Given the description of an element on the screen output the (x, y) to click on. 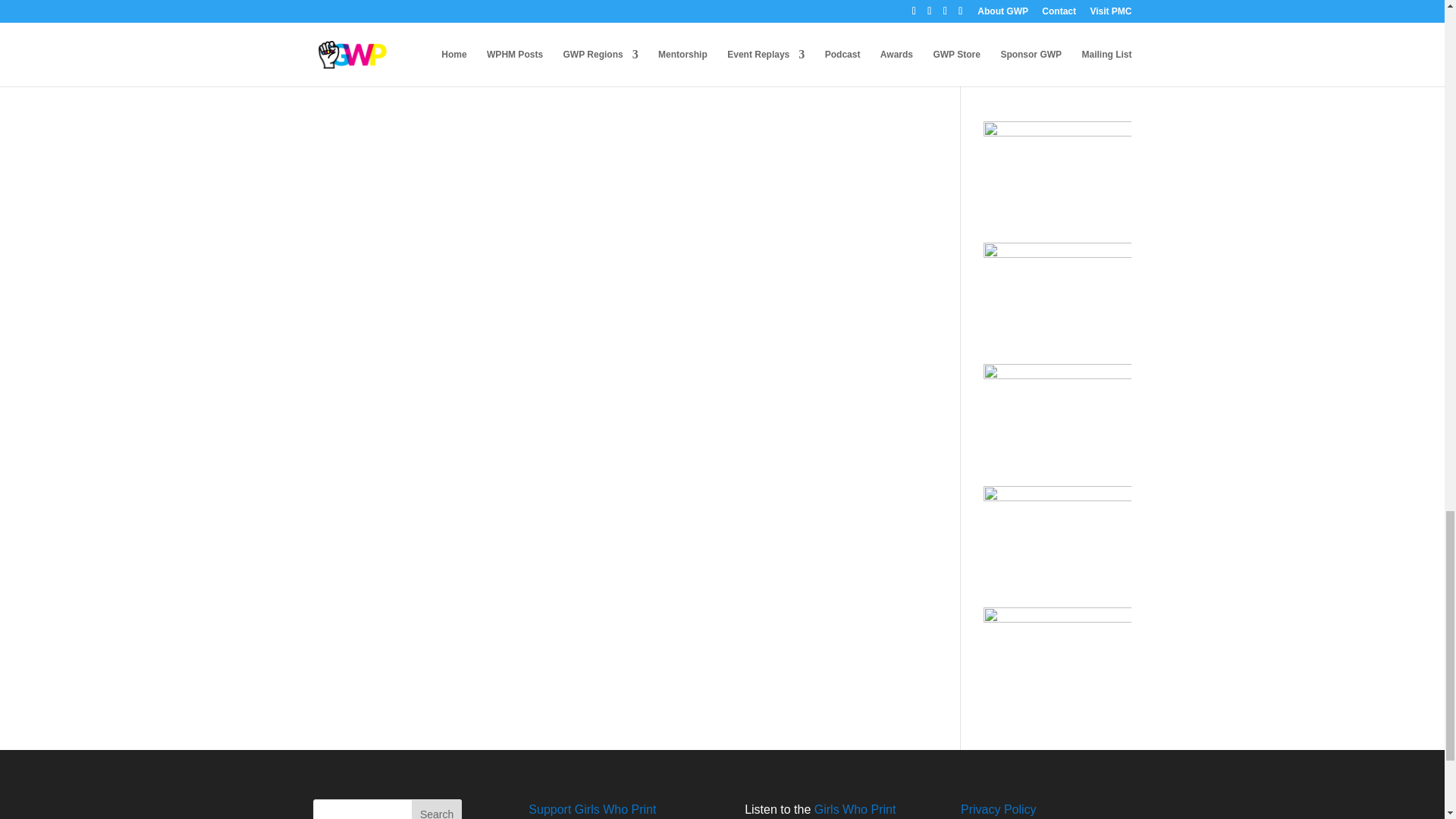
Search (436, 809)
